Given the description of an element on the screen output the (x, y) to click on. 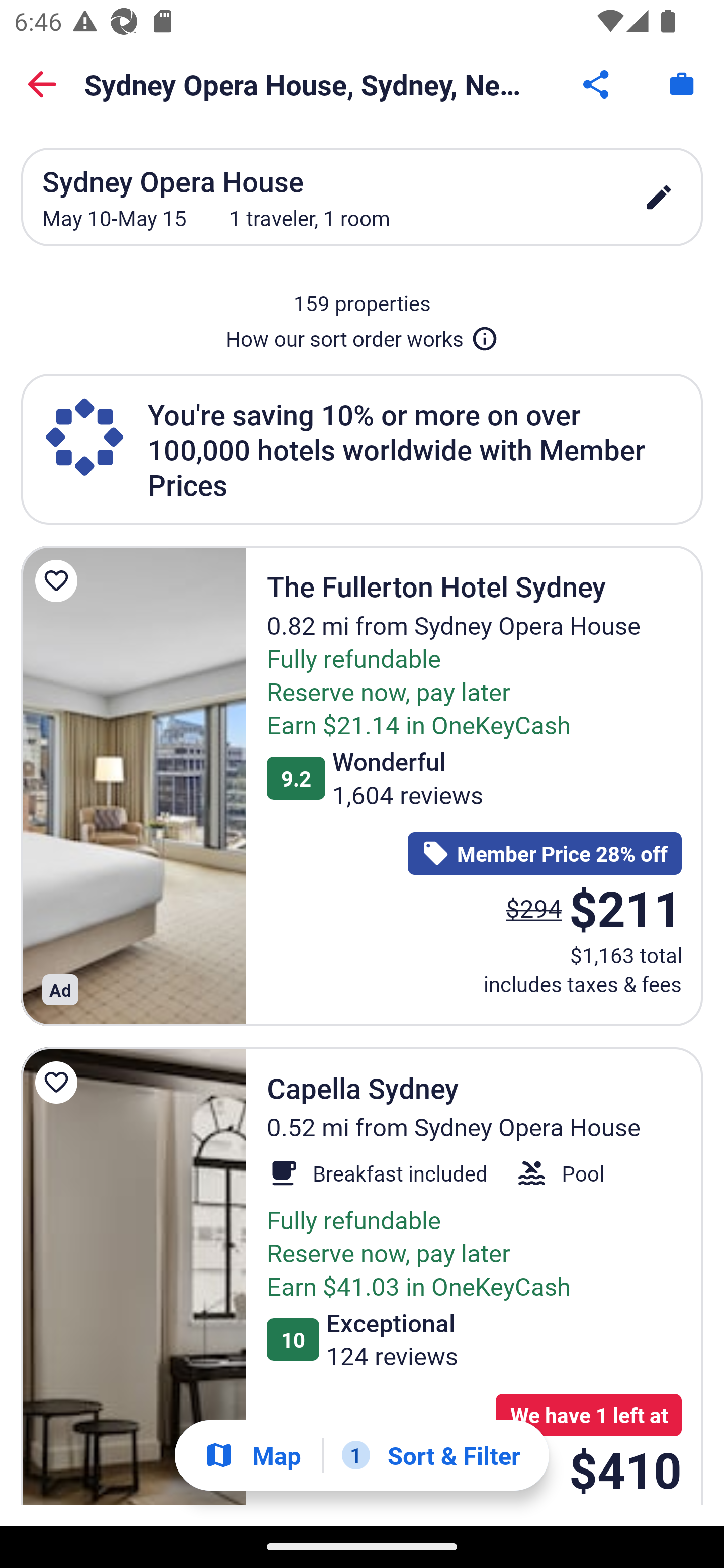
Back (42, 84)
Share Button (597, 84)
Trips. Button (681, 84)
How our sort order works (361, 334)
Save The Fullerton Hotel Sydney to a trip (59, 580)
The Fullerton Hotel Sydney (133, 785)
$294 The price was $294 (533, 907)
Save Capella Sydney to a trip (59, 1081)
Capella Sydney (133, 1276)
1 Sort & Filter 1 Filter applied. Filters Button (430, 1455)
Show map Map Show map Button (252, 1455)
